Given the description of an element on the screen output the (x, y) to click on. 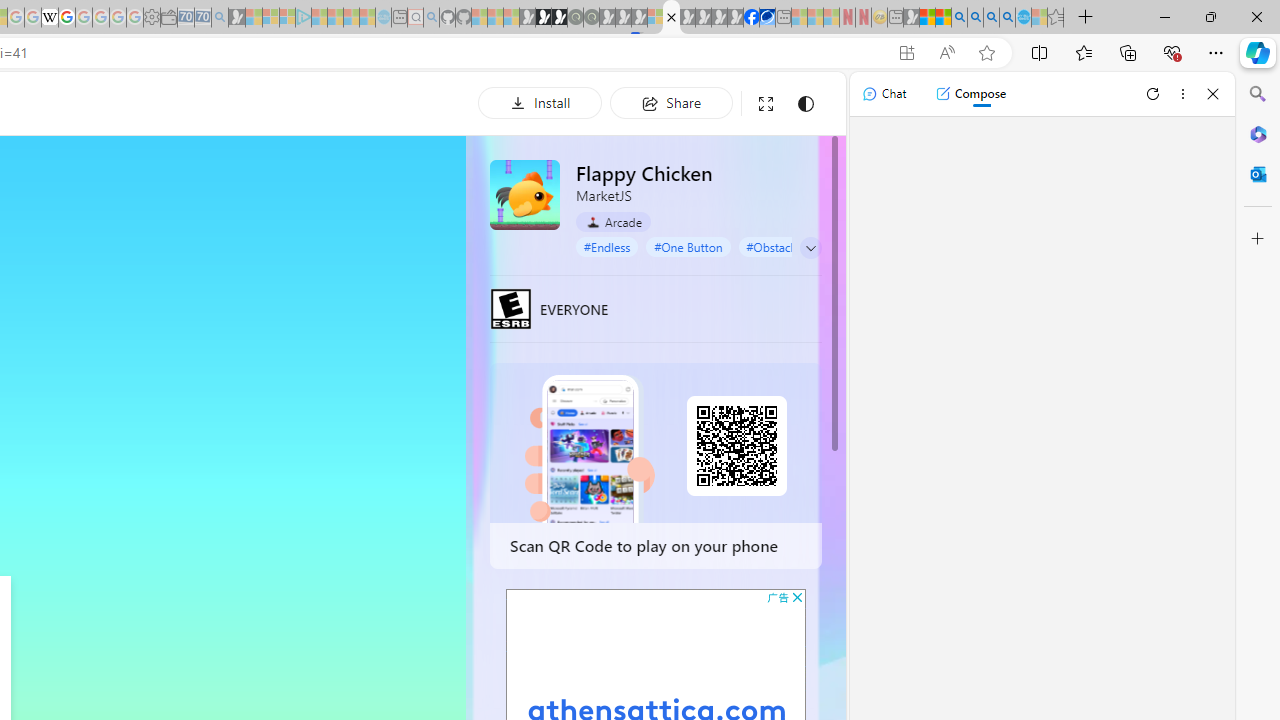
2009 Bing officially replaced Live Search on June 3 - Search (975, 17)
Nordace | Facebook (751, 17)
Sign in to your account - Sleeping (655, 17)
Full screen (765, 103)
Arcade (613, 222)
